Given the description of an element on the screen output the (x, y) to click on. 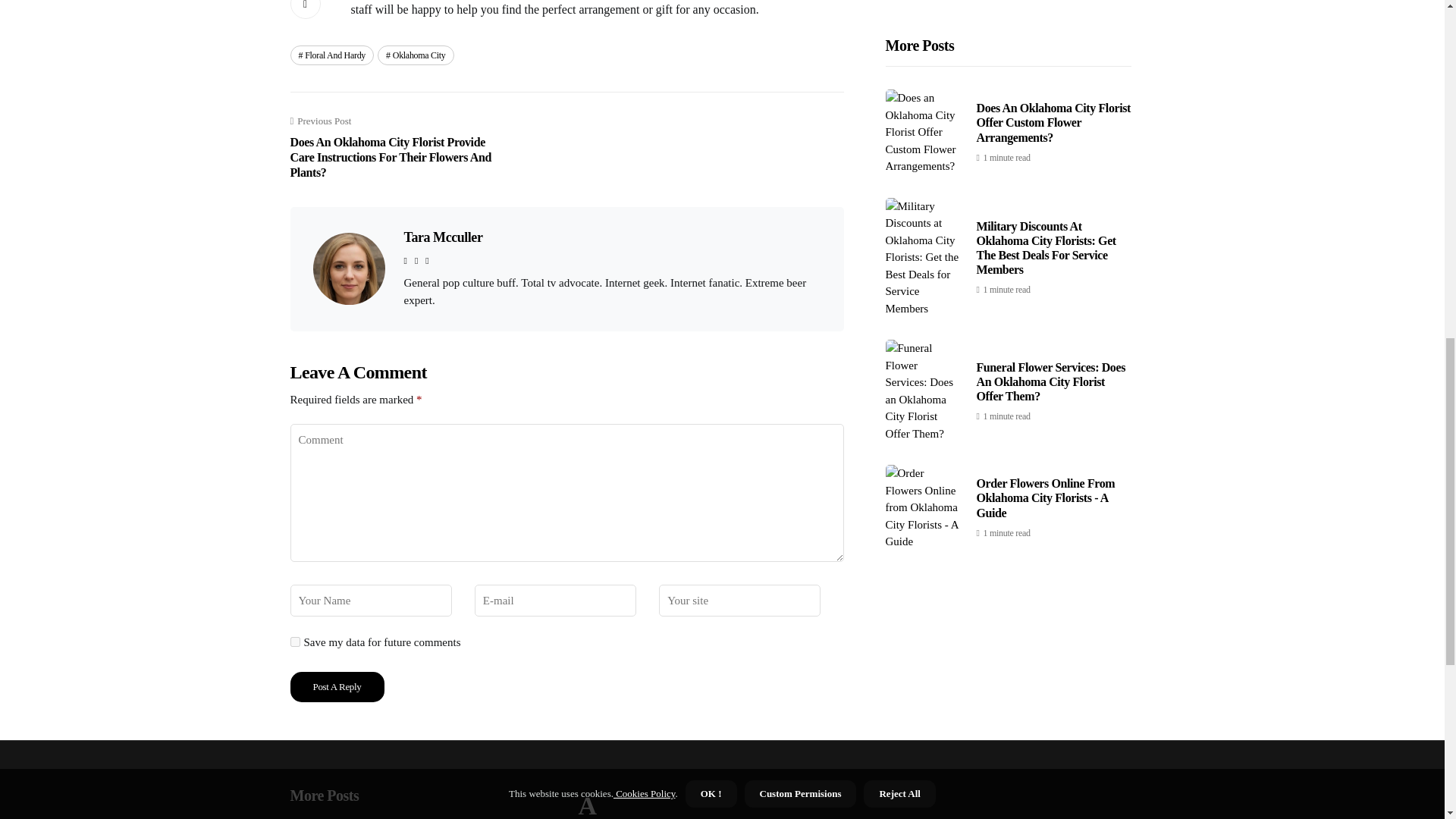
Floral And Hardy (331, 55)
Oklahoma City (414, 55)
yes (294, 642)
Post a Reply (336, 686)
Post a Reply (336, 686)
Tara Mcculler (442, 237)
